Given the description of an element on the screen output the (x, y) to click on. 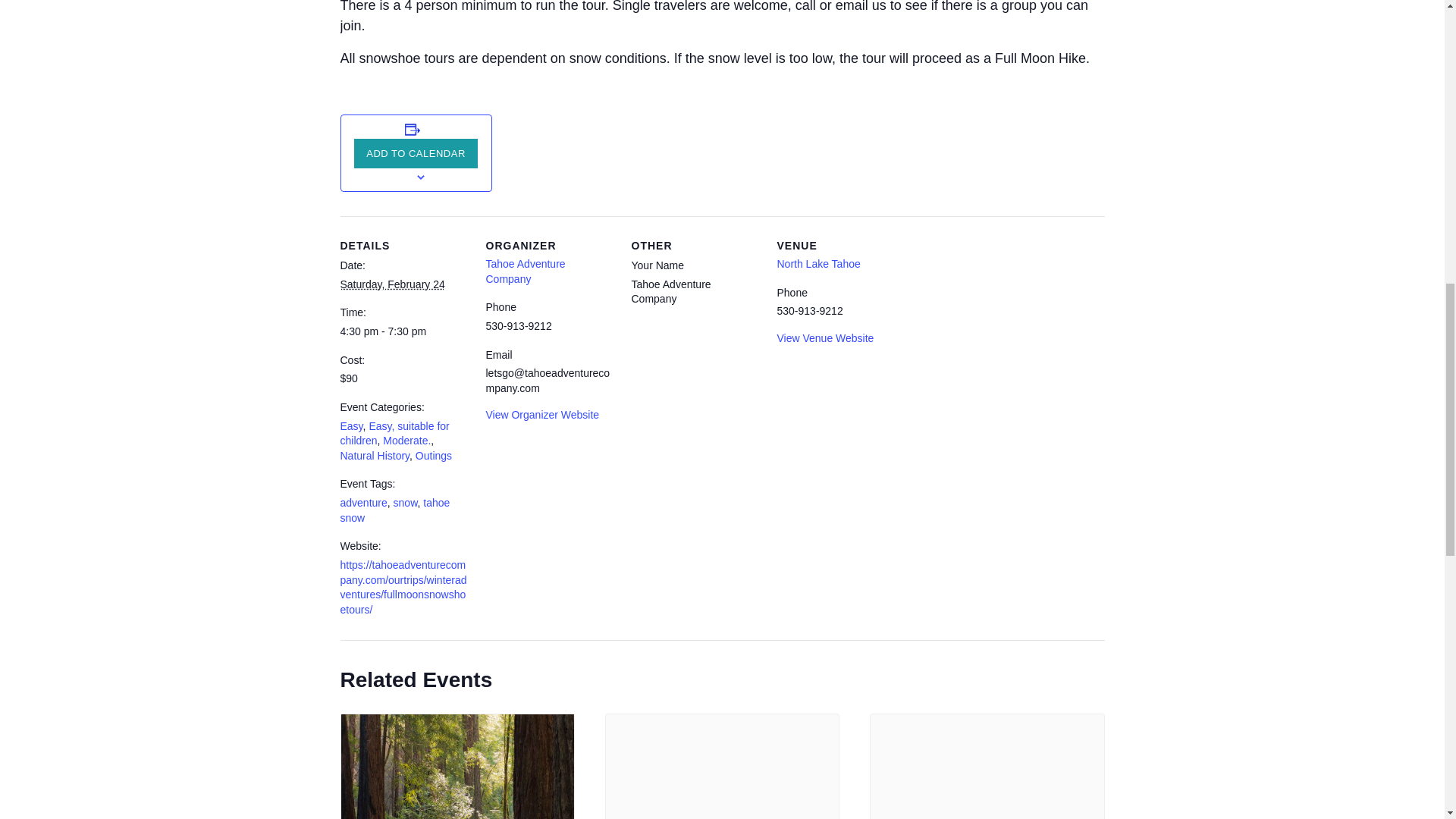
Tahoe Adventure Company (524, 271)
snow (405, 502)
ADD TO CALENDAR (415, 152)
Outings (432, 455)
Natural History (374, 455)
adventure (363, 502)
Easy (350, 426)
2024-02-24 (403, 331)
Easy, suitable for children (393, 433)
Moderate. (406, 440)
